Given the description of an element on the screen output the (x, y) to click on. 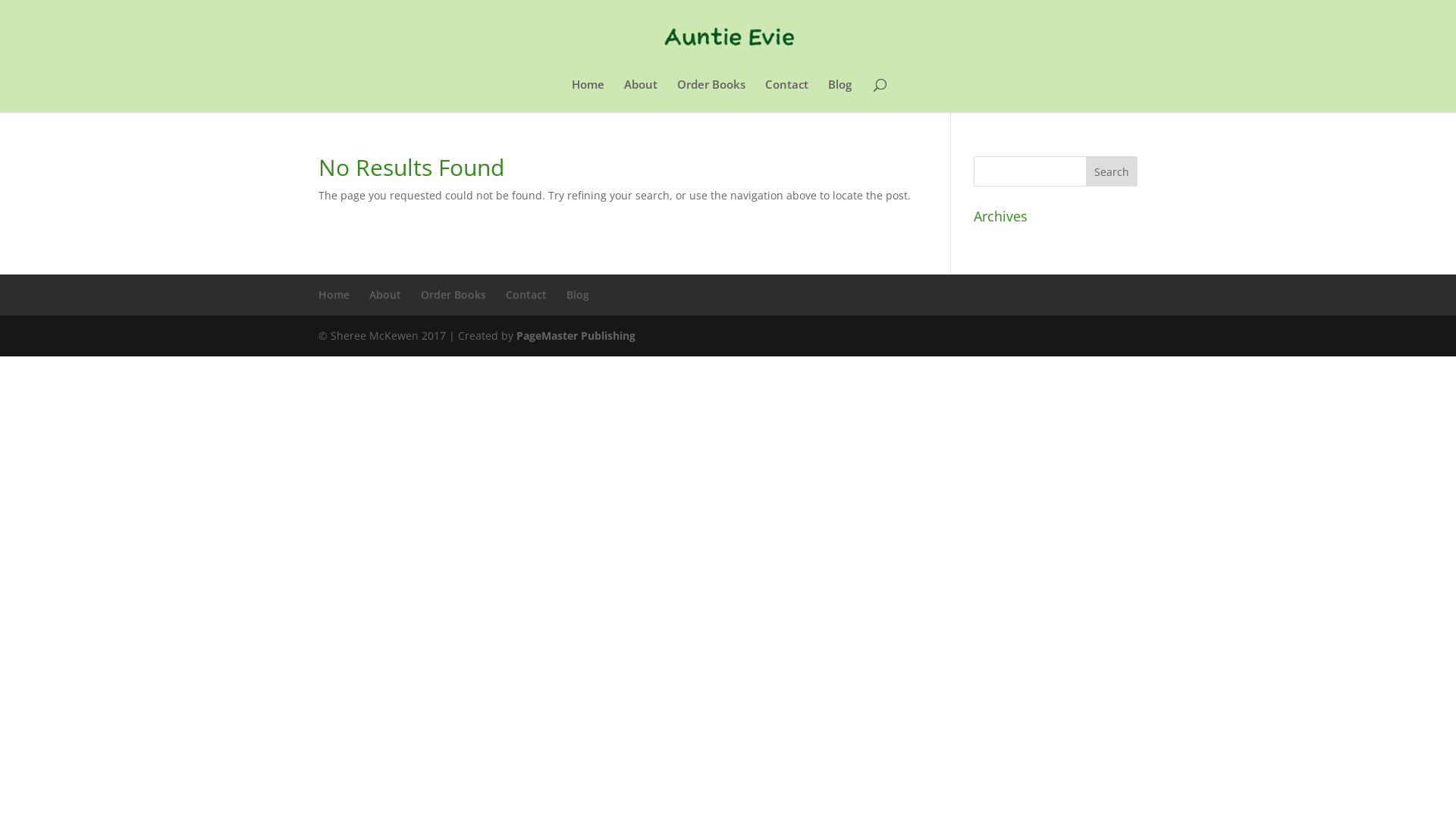
Home Element type: text (587, 95)
Search Element type: text (1111, 171)
Order Books Element type: text (453, 294)
Home Element type: text (333, 294)
Blog Element type: text (577, 294)
Order Books Element type: text (710, 95)
PageMaster Publishing Element type: text (575, 335)
About Element type: text (639, 95)
Contact Element type: text (525, 294)
Blog Element type: text (839, 95)
Contact Element type: text (785, 95)
About Element type: text (385, 294)
